Given the description of an element on the screen output the (x, y) to click on. 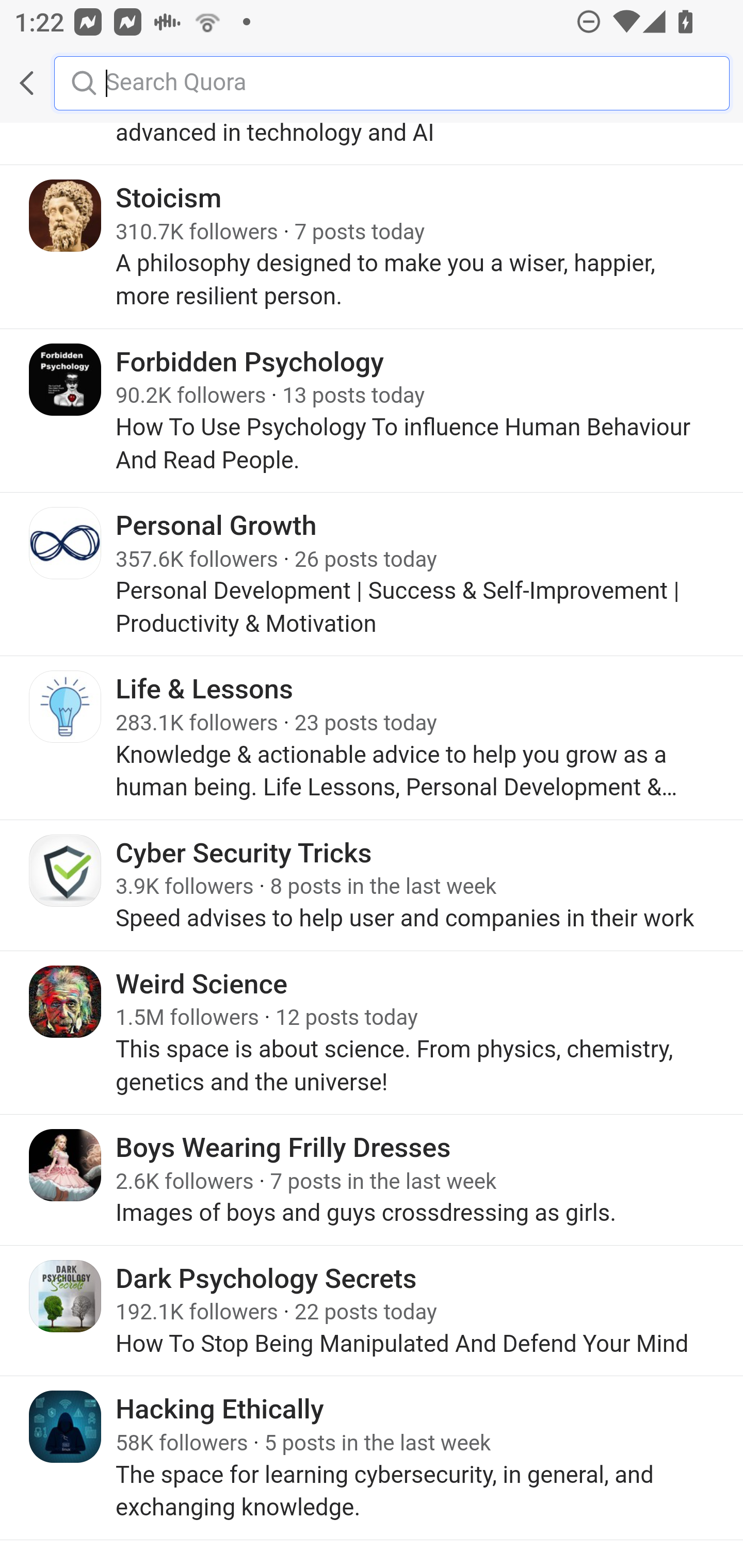
Me (64, 83)
Icon for Stoicism (65, 217)
Icon for Forbidden Psychology (65, 380)
Icon for Personal Growth (65, 543)
Icon for Life & Lessons (65, 707)
Icon for Cyber Security Tricks (65, 870)
Icon for Weird Science (65, 1002)
Icon for Boys Wearing Frilly Dresses (65, 1167)
Icon for Dark Psychology Secrets (65, 1297)
Icon for Hacking Ethically (65, 1429)
